Given the description of an element on the screen output the (x, y) to click on. 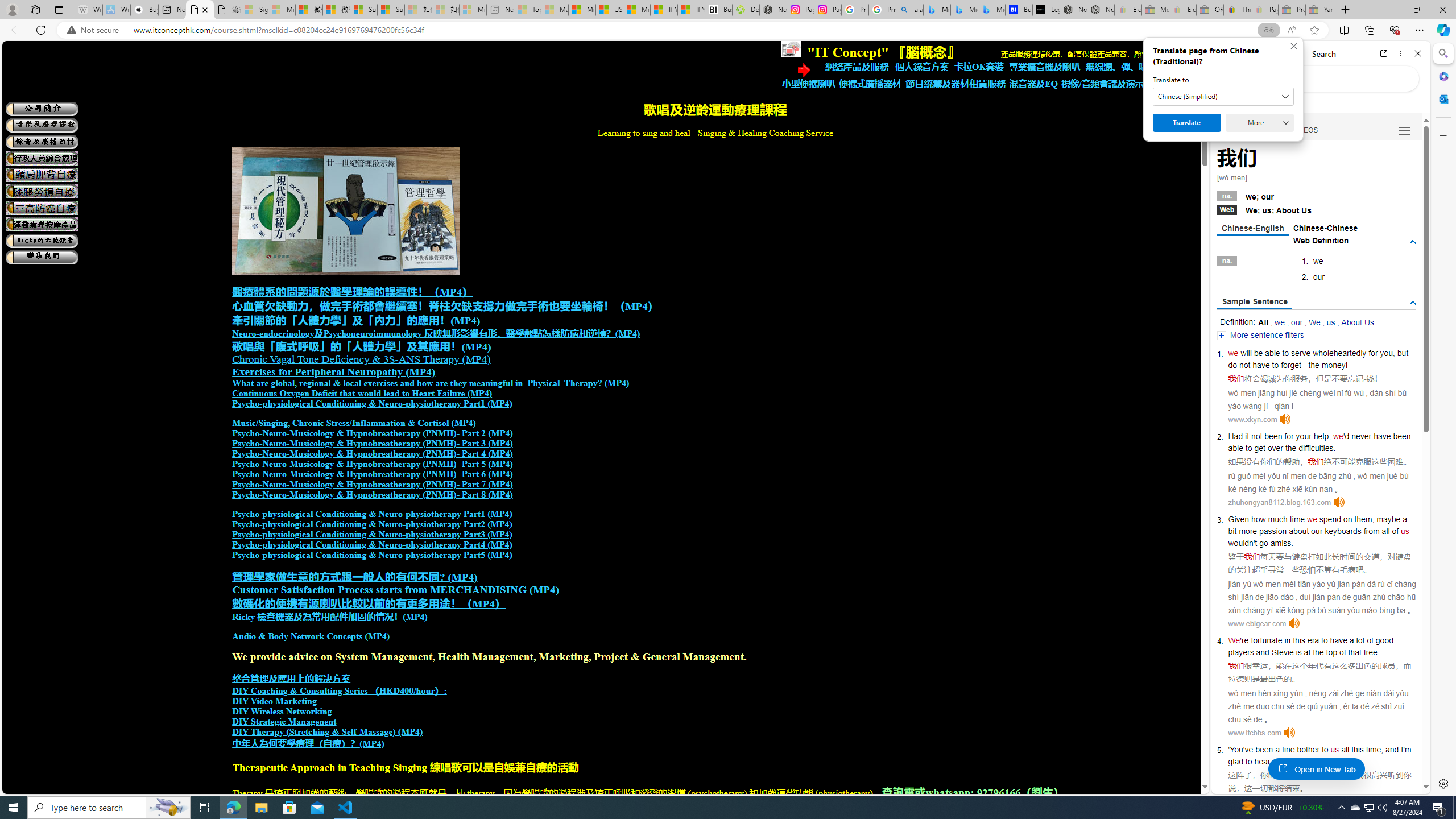
Buy iPad - Apple (144, 9)
Top Stories - MSN - Sleeping (527, 9)
bother (1308, 749)
a bit (1316, 524)
WEB (1231, 130)
US Heat Deaths Soared To Record High Last Year (609, 9)
Search (1442, 53)
spend (1329, 519)
Descarga Driver Updater (746, 9)
